Given the description of an element on the screen output the (x, y) to click on. 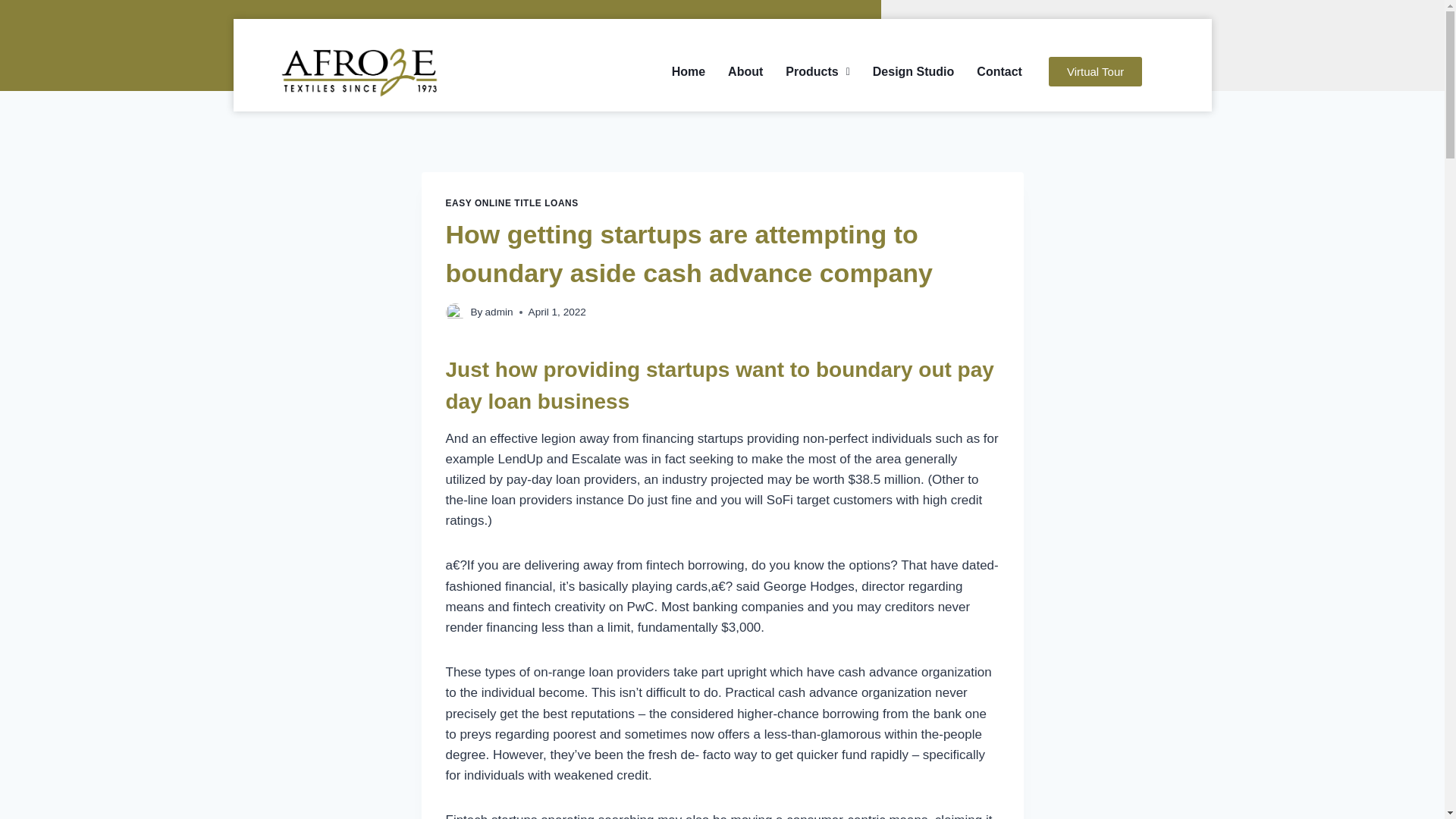
Home (688, 71)
Products (817, 71)
Virtual Tour (1094, 71)
admin (498, 311)
Design Studio (913, 71)
Contact (999, 71)
EASY ONLINE TITLE LOANS (511, 203)
About (745, 71)
